Given the description of an element on the screen output the (x, y) to click on. 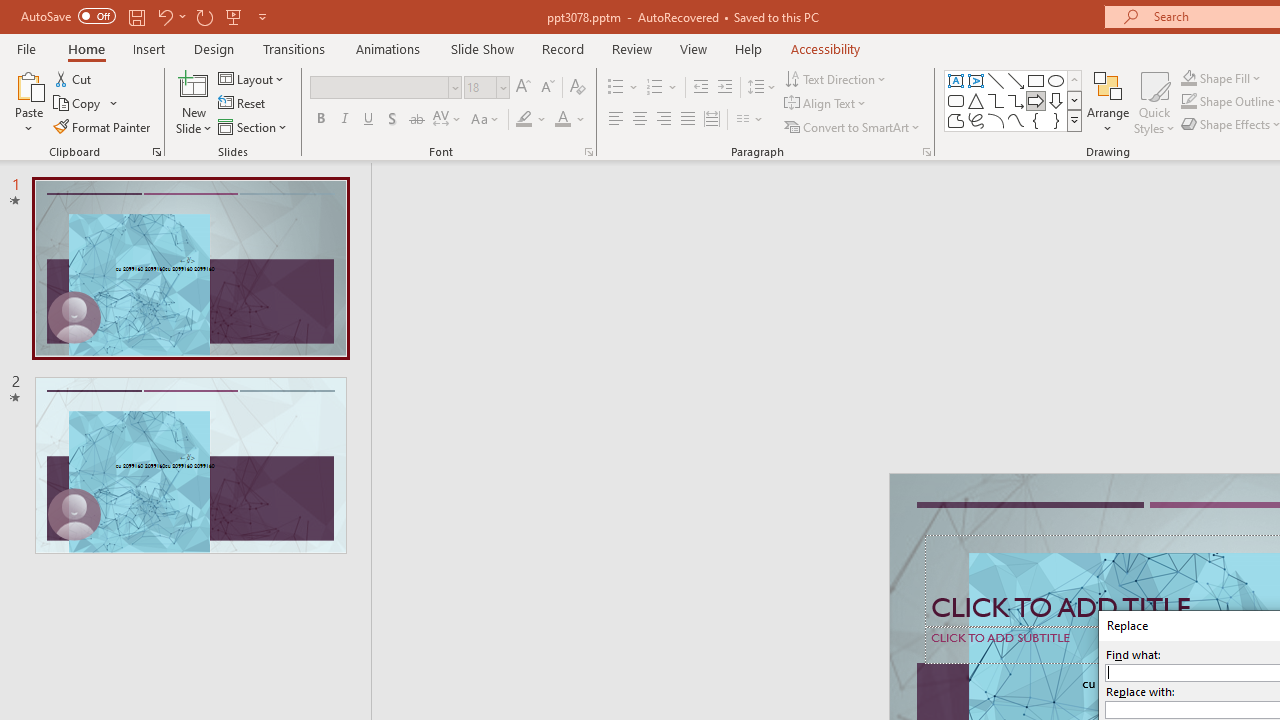
Text Highlight Color Yellow (524, 119)
Underline (369, 119)
Increase Font Size (522, 87)
Align Left (616, 119)
Bold (320, 119)
Line Arrow (1016, 80)
Paragraph... (926, 151)
Layout (252, 78)
Increase Indent (725, 87)
